Given the description of an element on the screen output the (x, y) to click on. 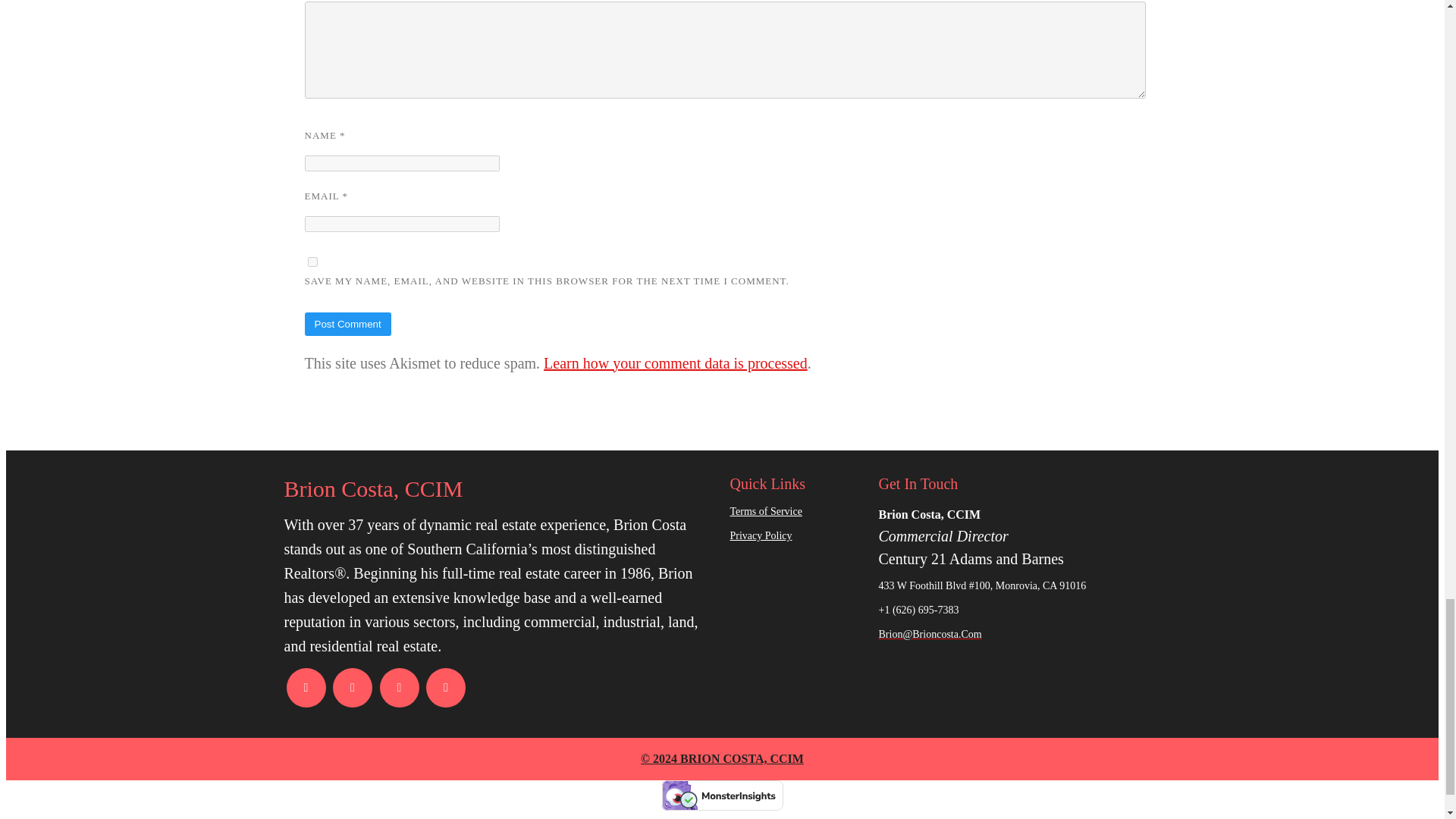
Learn how your comment data is processed (675, 362)
Brion Costa, CCIM (498, 489)
Post Comment (347, 323)
Privacy Policy (796, 536)
yes (312, 261)
Terms of Service (796, 511)
Post Comment (347, 323)
Verified by MonsterInsights (722, 795)
